Given the description of an element on the screen output the (x, y) to click on. 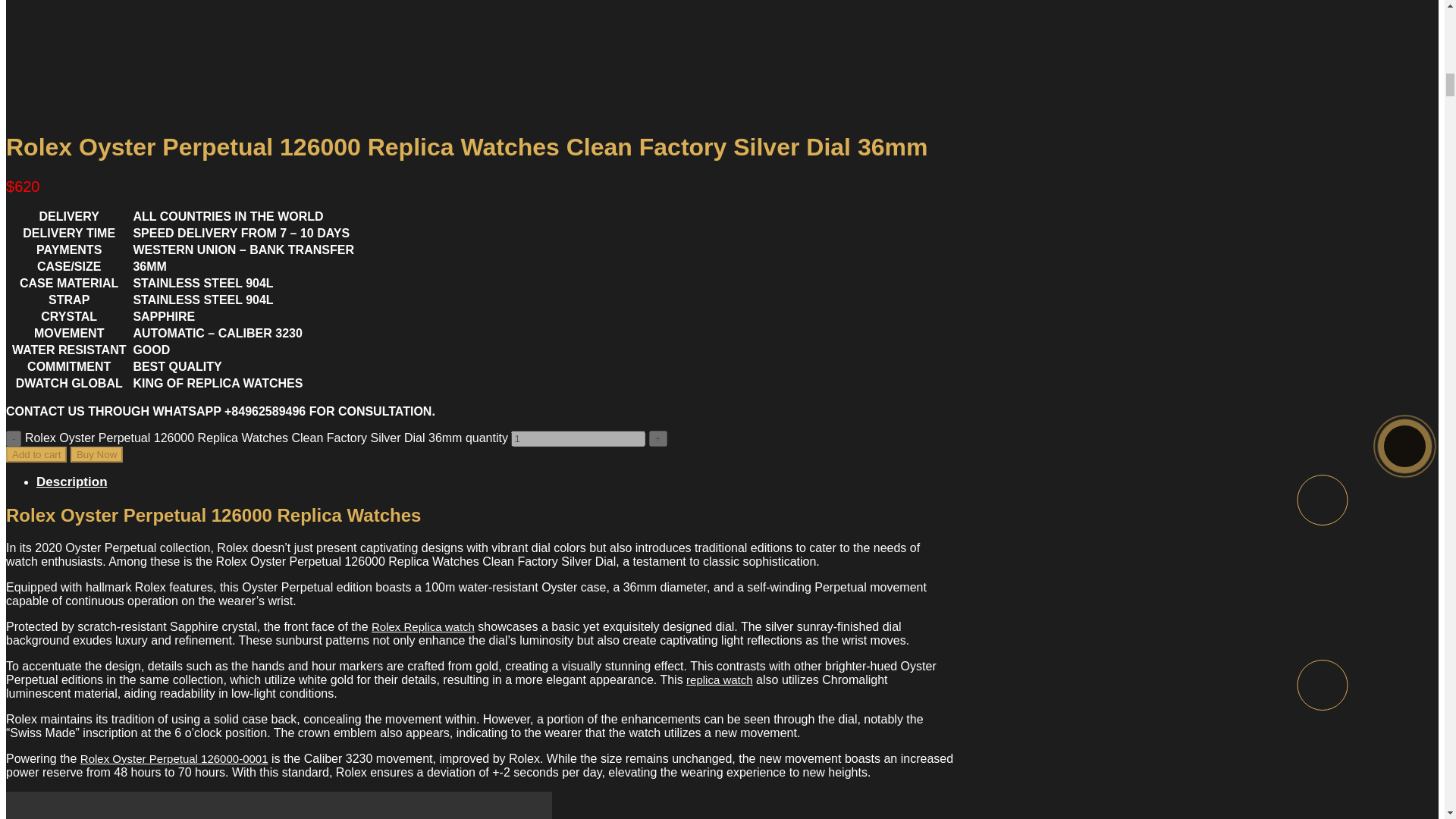
- (13, 438)
Qty (578, 438)
1 (578, 438)
